Given the description of an element on the screen output the (x, y) to click on. 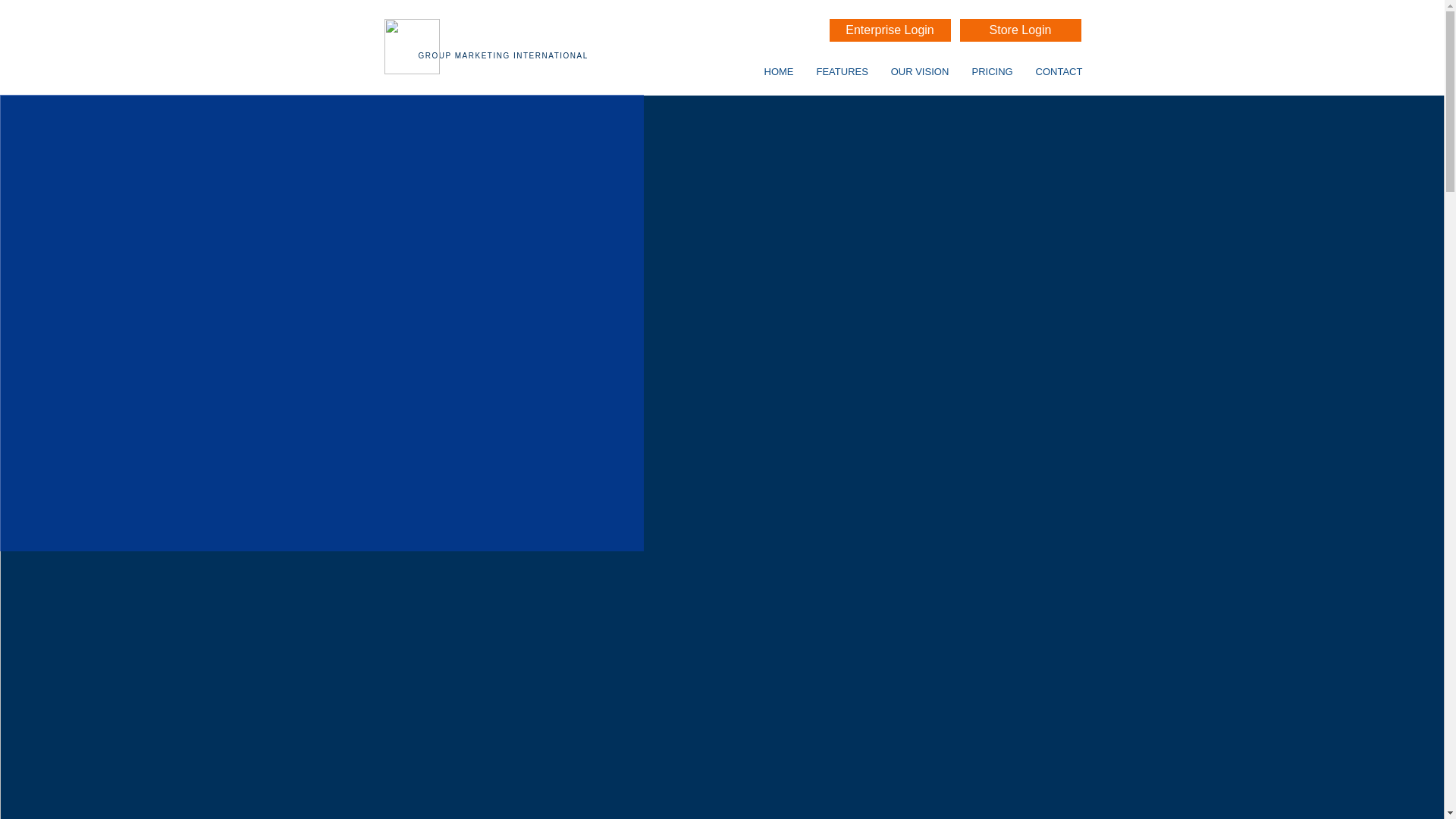
Store Login (1020, 29)
PRICING (991, 71)
FEATURES (842, 71)
Enterprise Login (889, 29)
HOME (778, 71)
CONTACT (1058, 71)
OUR VISION (919, 71)
